Given the description of an element on the screen output the (x, y) to click on. 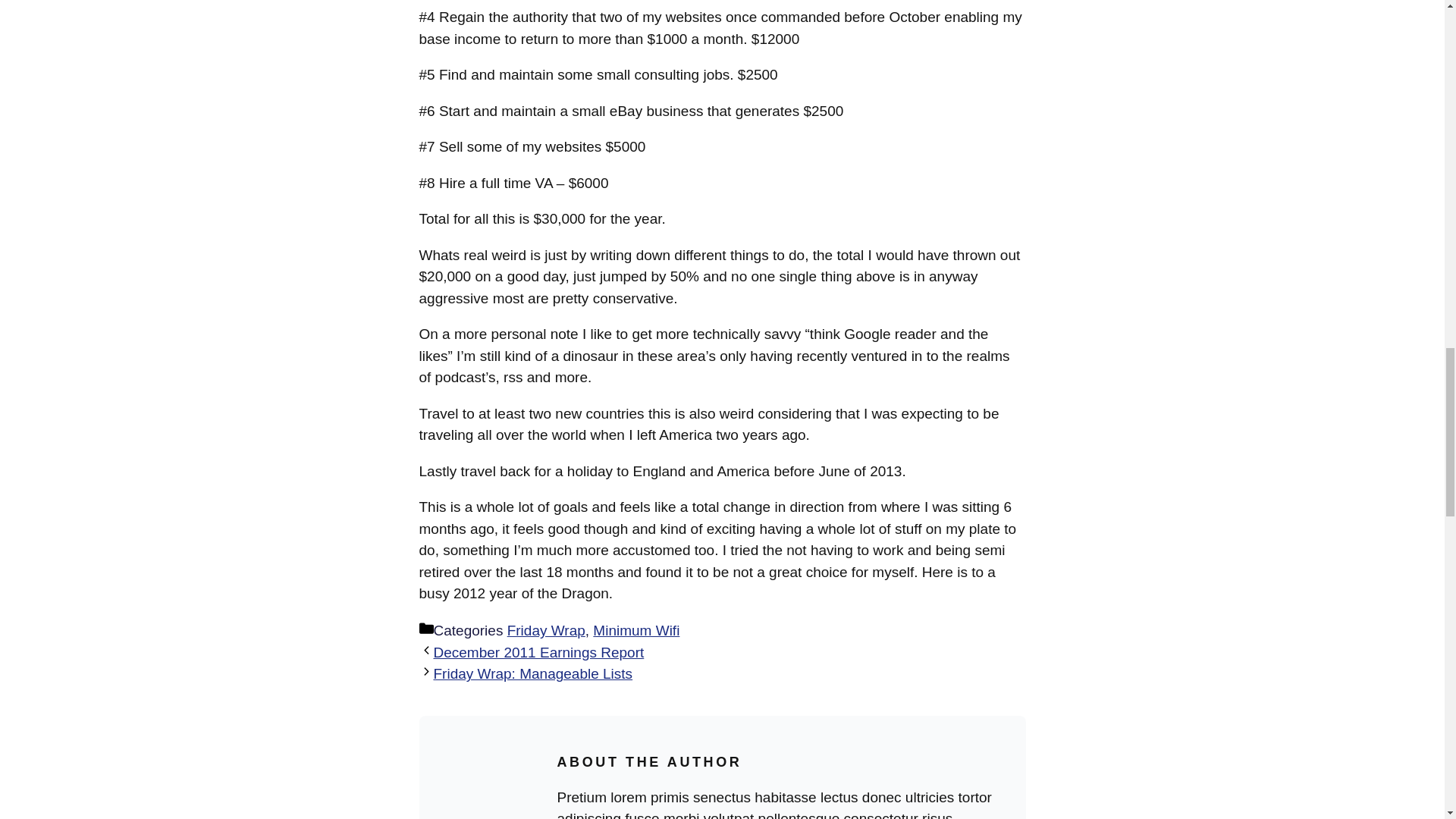
Friday Wrap (545, 630)
Minimum Wifi (635, 630)
December 2011 Earnings Report (539, 652)
Friday Wrap: Manageable Lists (533, 673)
